Given the description of an element on the screen output the (x, y) to click on. 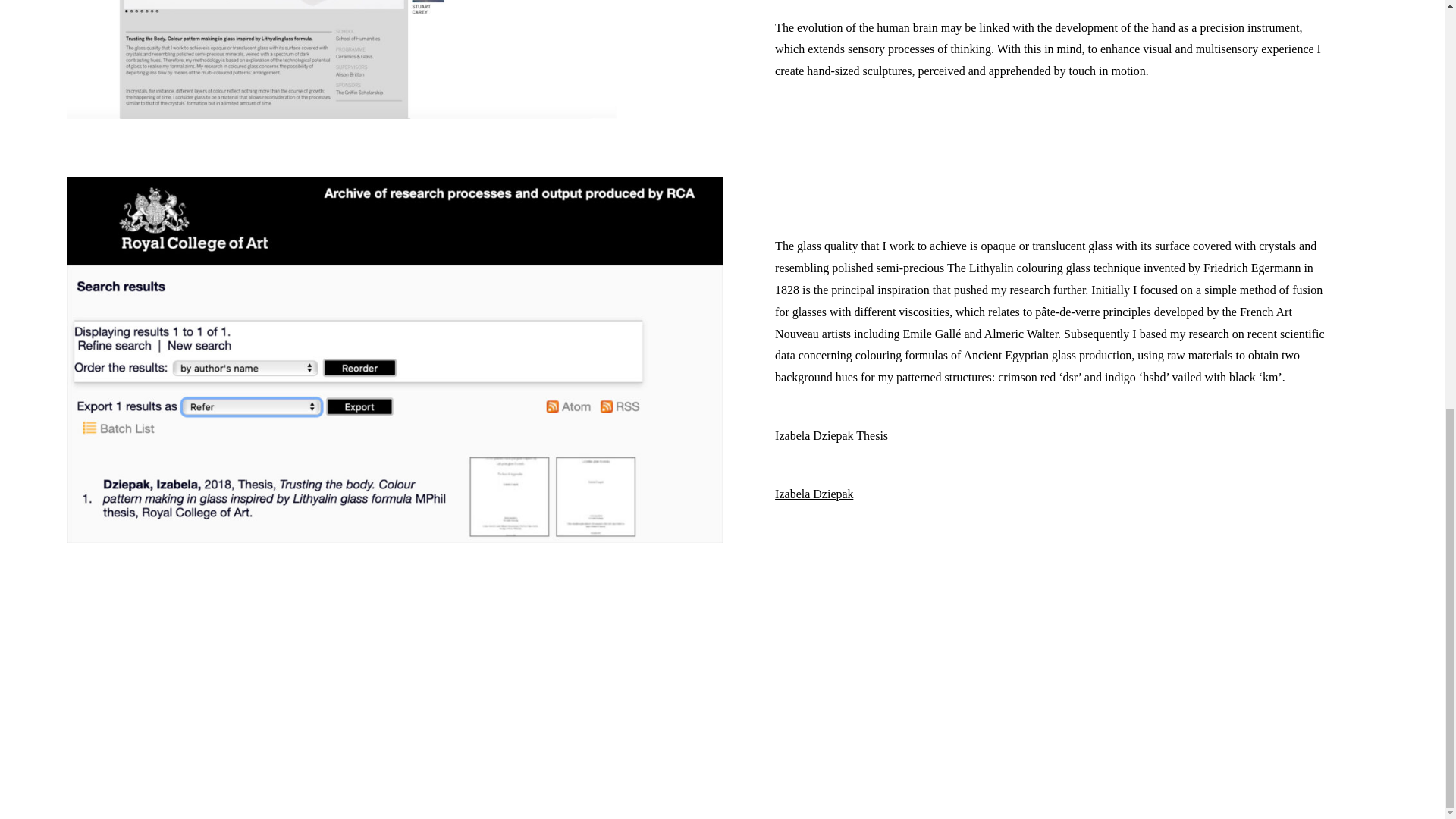
http (783, 128)
Bravada (717, 761)
Bravada WordPress Theme by Cryout Creations (717, 761)
Izabela Dziepak (813, 493)
WordPress (780, 761)
Izabela Dziepak Thesis (831, 435)
